Given the description of an element on the screen output the (x, y) to click on. 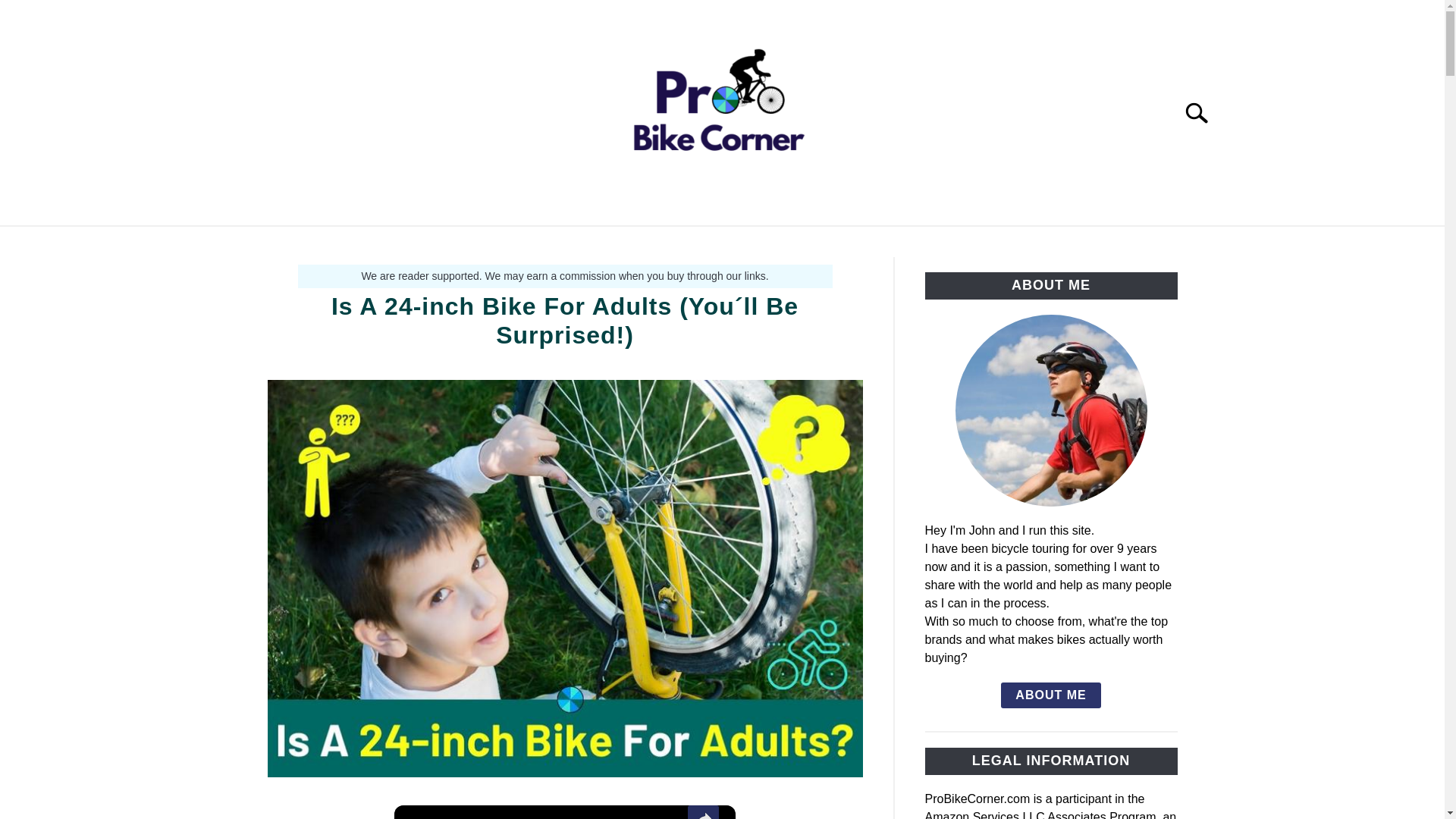
BIKE GUIDE (566, 243)
share (703, 812)
Search (1203, 112)
Share (703, 812)
SIZE GUIDE (674, 243)
